Given the description of an element on the screen output the (x, y) to click on. 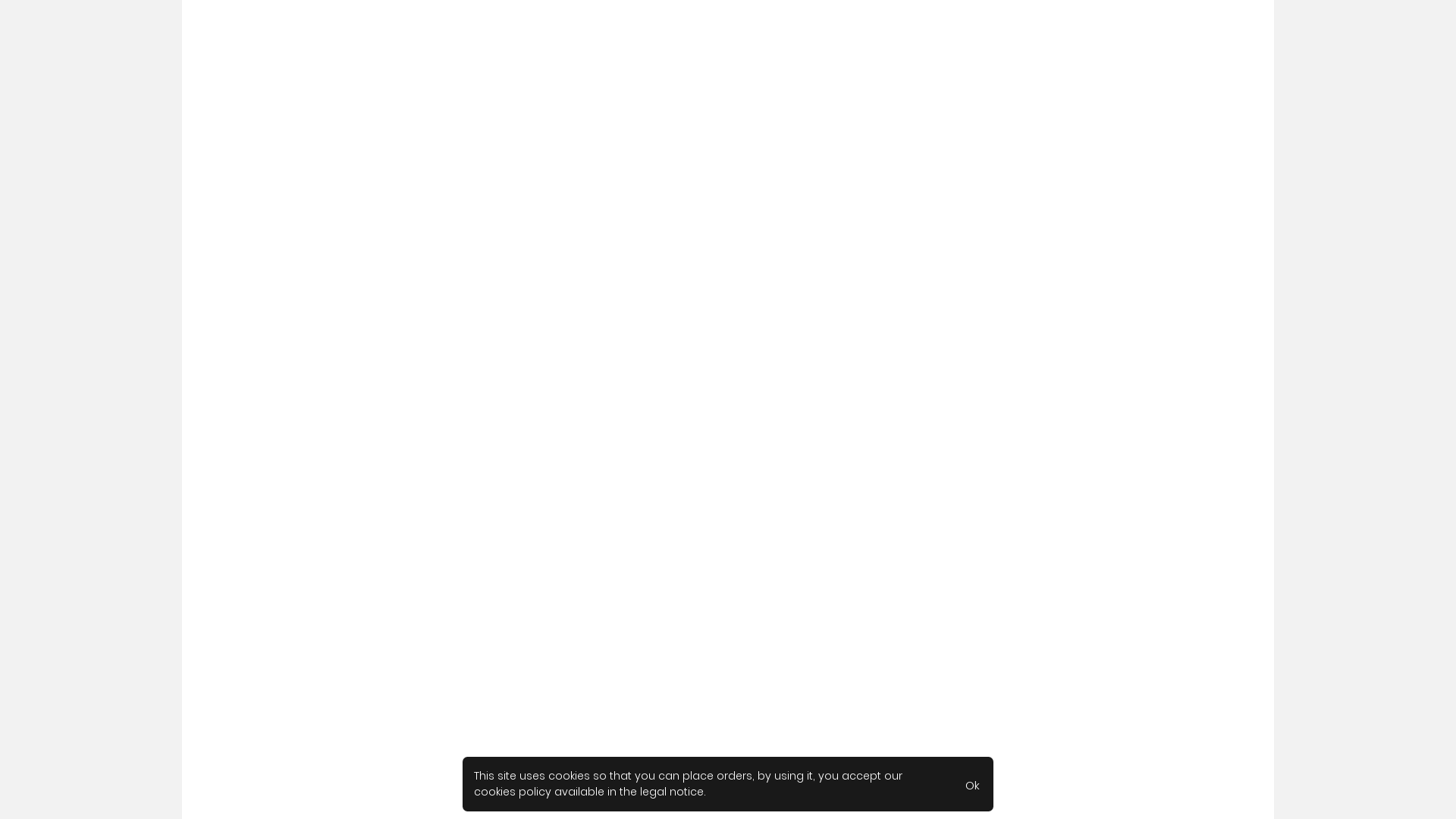
Ok Element type: text (972, 784)
